Given the description of an element on the screen output the (x, y) to click on. 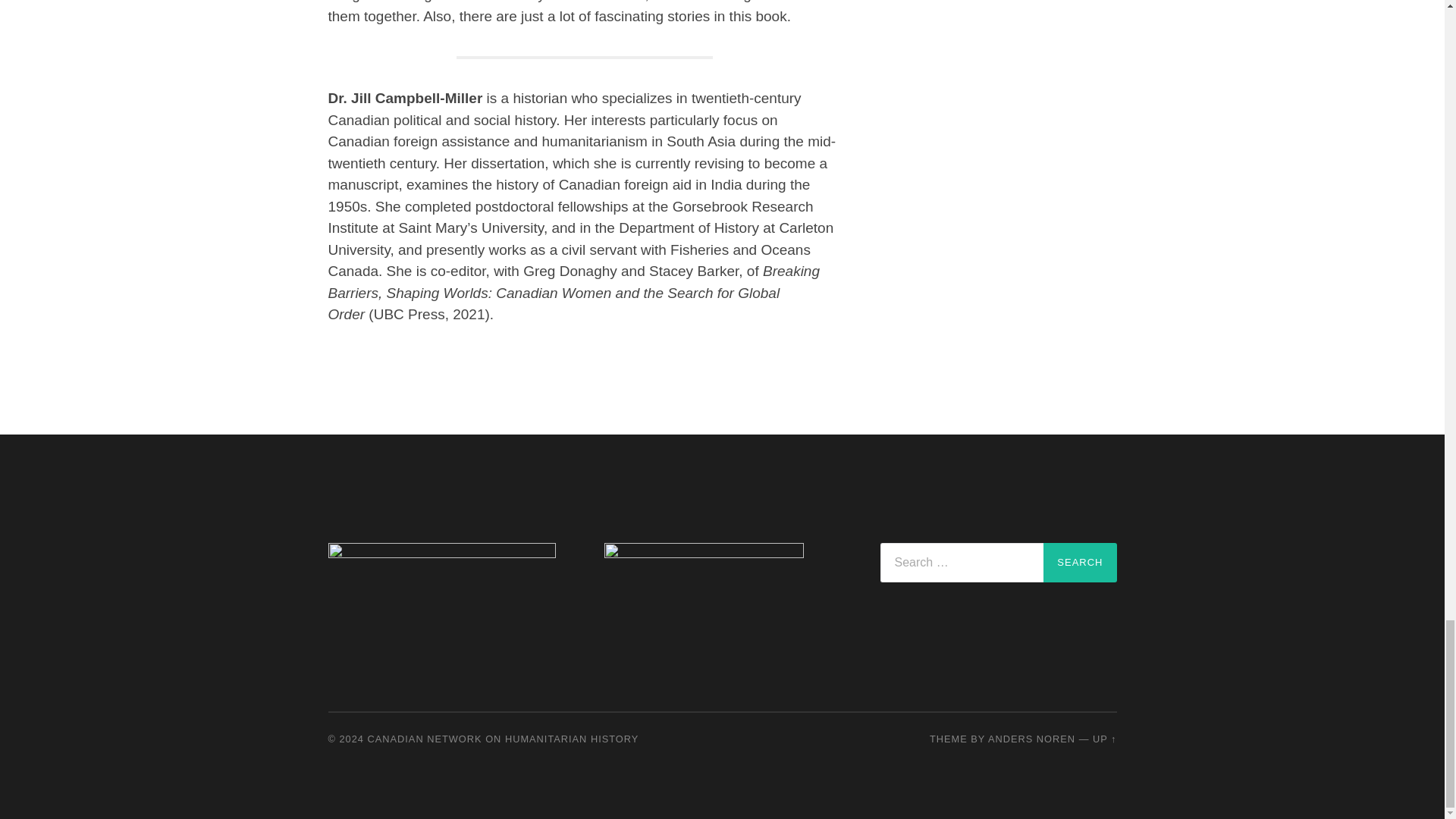
Search (1079, 562)
Search (1079, 562)
Search (1079, 562)
To the top (1104, 738)
CANADIAN NETWORK ON HUMANITARIAN HISTORY (503, 738)
